Given the description of an element on the screen output the (x, y) to click on. 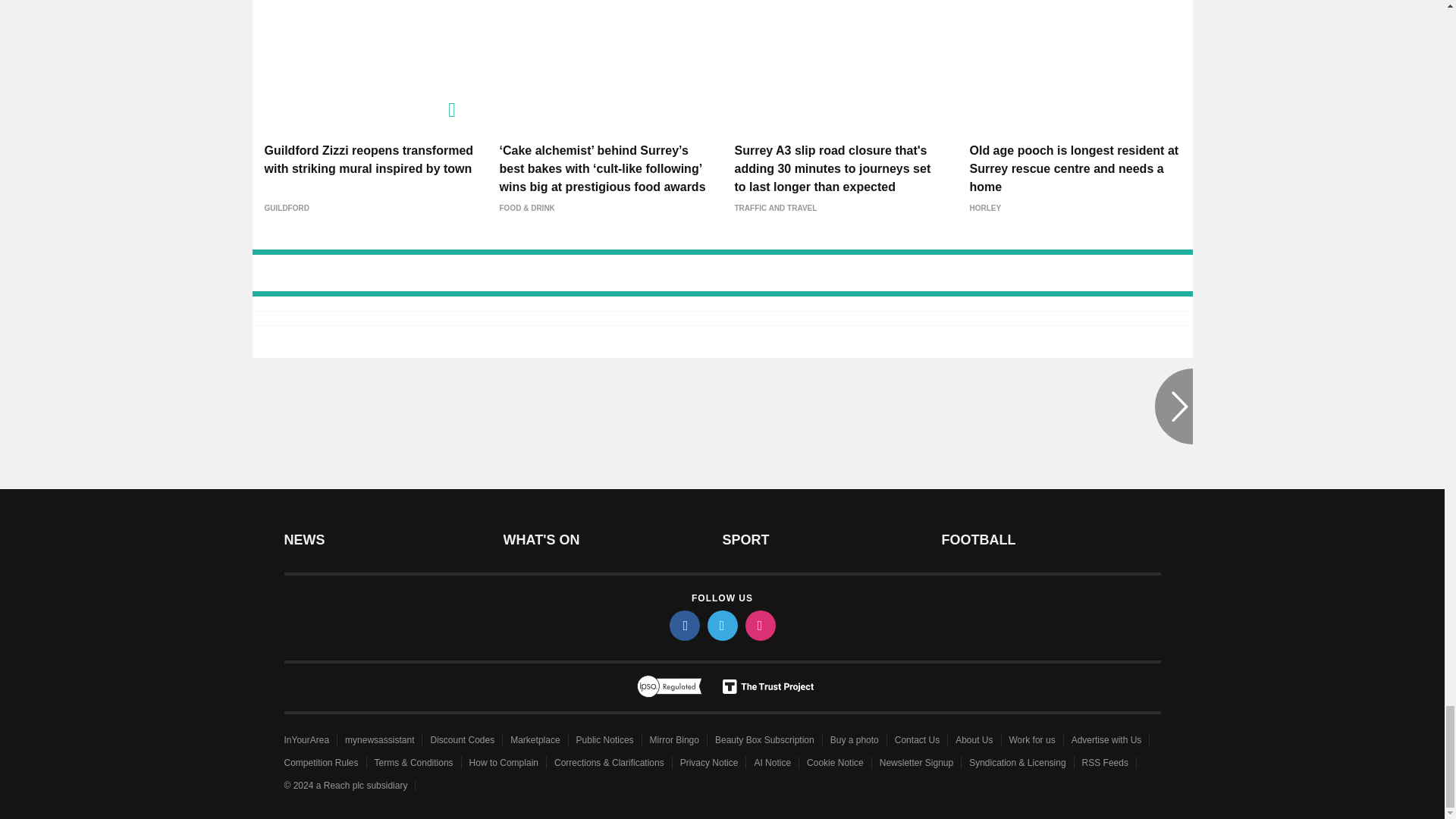
twitter (721, 625)
facebook (683, 625)
instagram (759, 625)
